Given the description of an element on the screen output the (x, y) to click on. 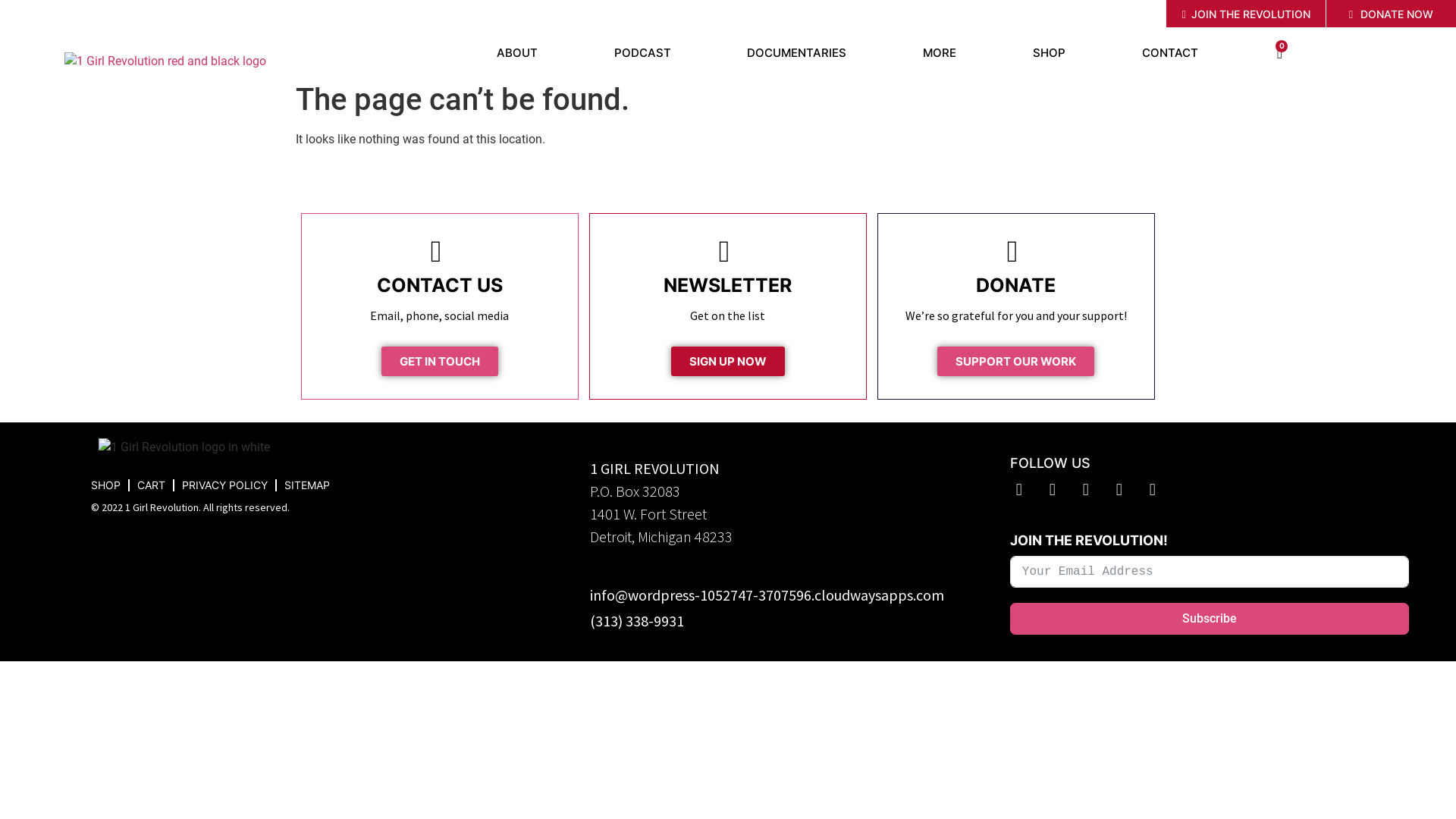
SIGN UP NOW Element type: text (727, 361)
SHOP Element type: text (105, 484)
CART Element type: text (150, 484)
DOCUMENTARIES Element type: text (796, 52)
1 Girl Revolution red and black logo Element type: hover (165, 61)
(313) 338-9931 Element type: text (636, 620)
1 Girl Revolution logo in white Element type: hover (183, 447)
SITEMAP Element type: text (306, 484)
SHOP Element type: text (1049, 52)
Subscribe Element type: text (1209, 618)
SUPPORT OUR WORK Element type: text (1015, 361)
GET IN TOUCH Element type: text (439, 361)
PODCAST Element type: text (642, 52)
MORE Element type: text (939, 52)
ABOUT Element type: text (516, 52)
info@wordpress-1052747-3707596.cloudwaysapps.com Element type: text (766, 594)
0 Element type: text (1279, 52)
PRIVACY POLICY Element type: text (224, 484)
CONTACT Element type: text (1170, 52)
